Given the description of an element on the screen output the (x, y) to click on. 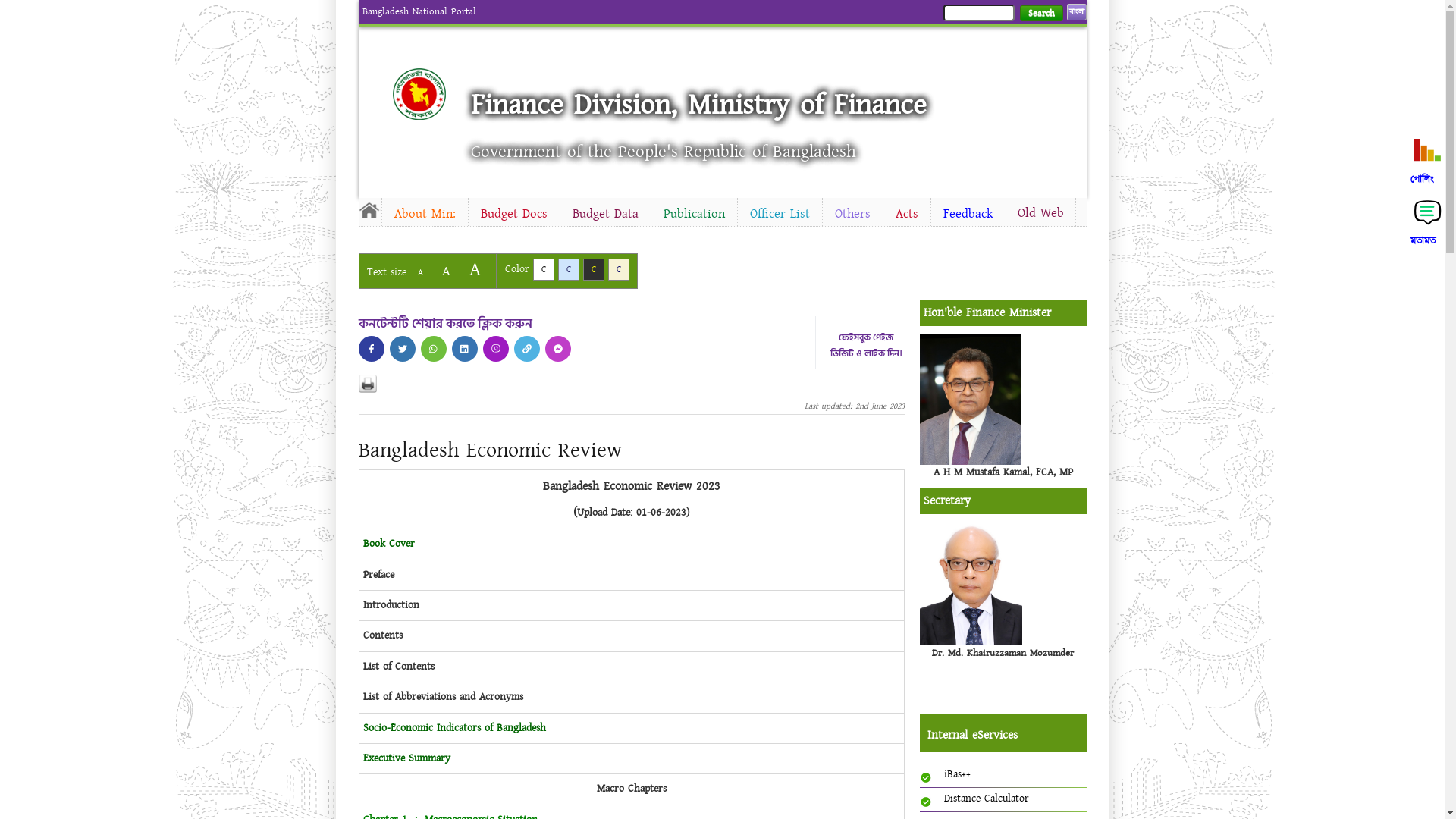
print Element type: hover (366, 383)
Introduction Element type: text (390, 604)
A Element type: text (445, 271)
Home Element type: hover (431, 93)
Book Cover Element type: text (388, 543)
List of Abbreviations and Acronyms Element type: text (442, 696)
Internal eServices Element type: text (1005, 735)
Bangladesh National Portal Element type: text (419, 11)
Executive Summary Element type: text (405, 757)
Feedback Element type: text (968, 213)
Others Element type: text (851, 213)
C Element type: text (592, 269)
C Element type: text (568, 269)
Search Element type: text (1040, 13)
Budget Data Element type: text (604, 213)
Preface Element type: text (377, 574)
Finance Division, Ministry of Finance Element type: text (698, 104)
C Element type: text (542, 269)
A H M Mustafa Kamal, FCA, MP Element type: text (1002, 472)
Distance Calculator Element type: text (985, 798)
A Element type: text (474, 269)
Contents Element type: text (381, 635)
Officer List Element type: text (779, 213)
List of Contents Element type: text (397, 666)
Publication Element type: text (693, 213)
iBas++ Element type: text (956, 773)
Socio-Economic Indicators of Bangladesh Element type: text (453, 727)
Dr. Md. Khairuzzaman Mozumder Element type: text (1002, 652)
Acts Element type: text (905, 213)
Old Web Element type: text (1039, 212)
C Element type: text (618, 269)
Home Element type: hover (368, 209)
Budget Docs Element type: text (513, 213)
About Min: Element type: text (424, 213)
A Element type: text (419, 272)
